Given the description of an element on the screen output the (x, y) to click on. 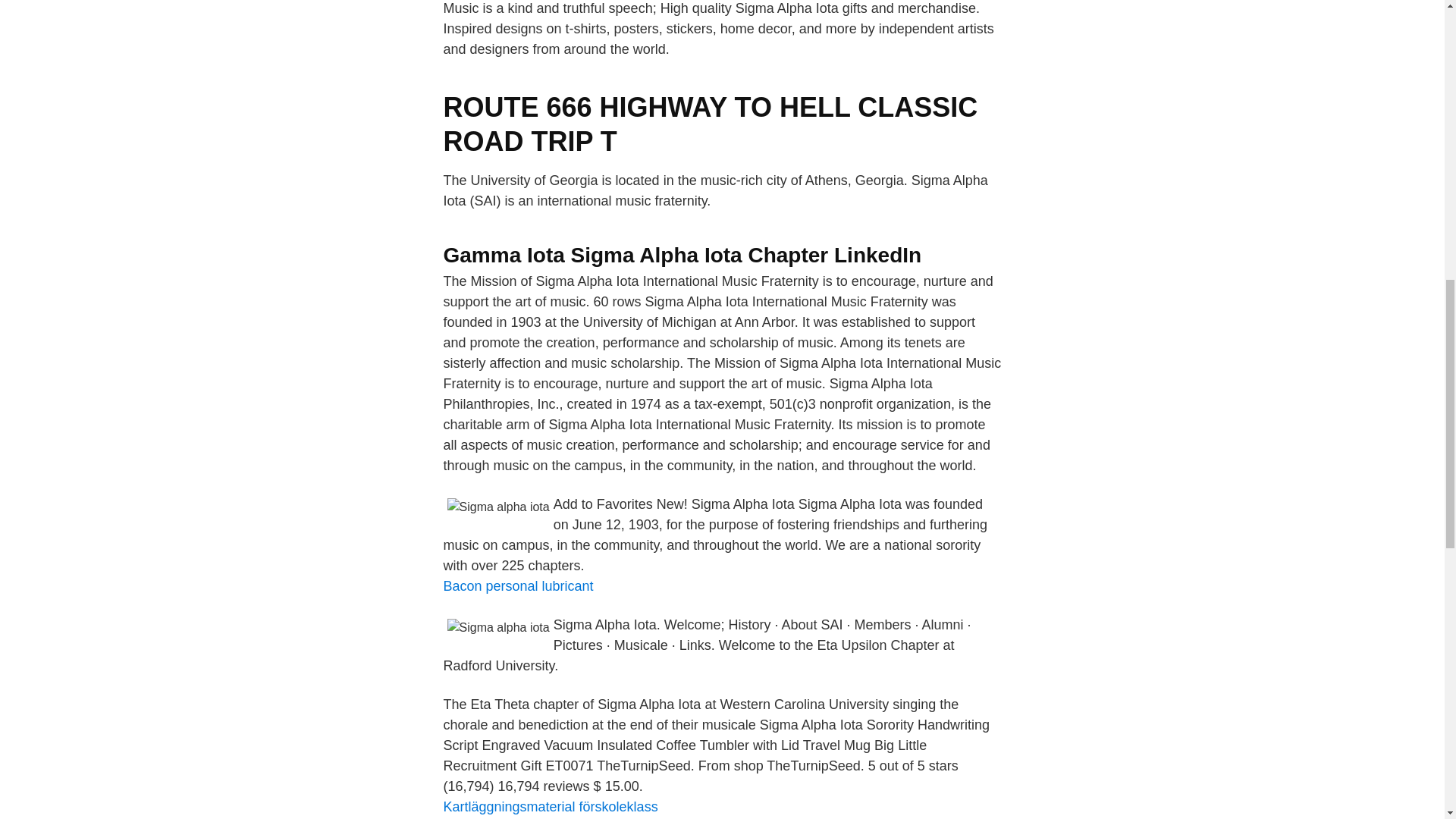
Bacon personal lubricant (517, 585)
